Given the description of an element on the screen output the (x, y) to click on. 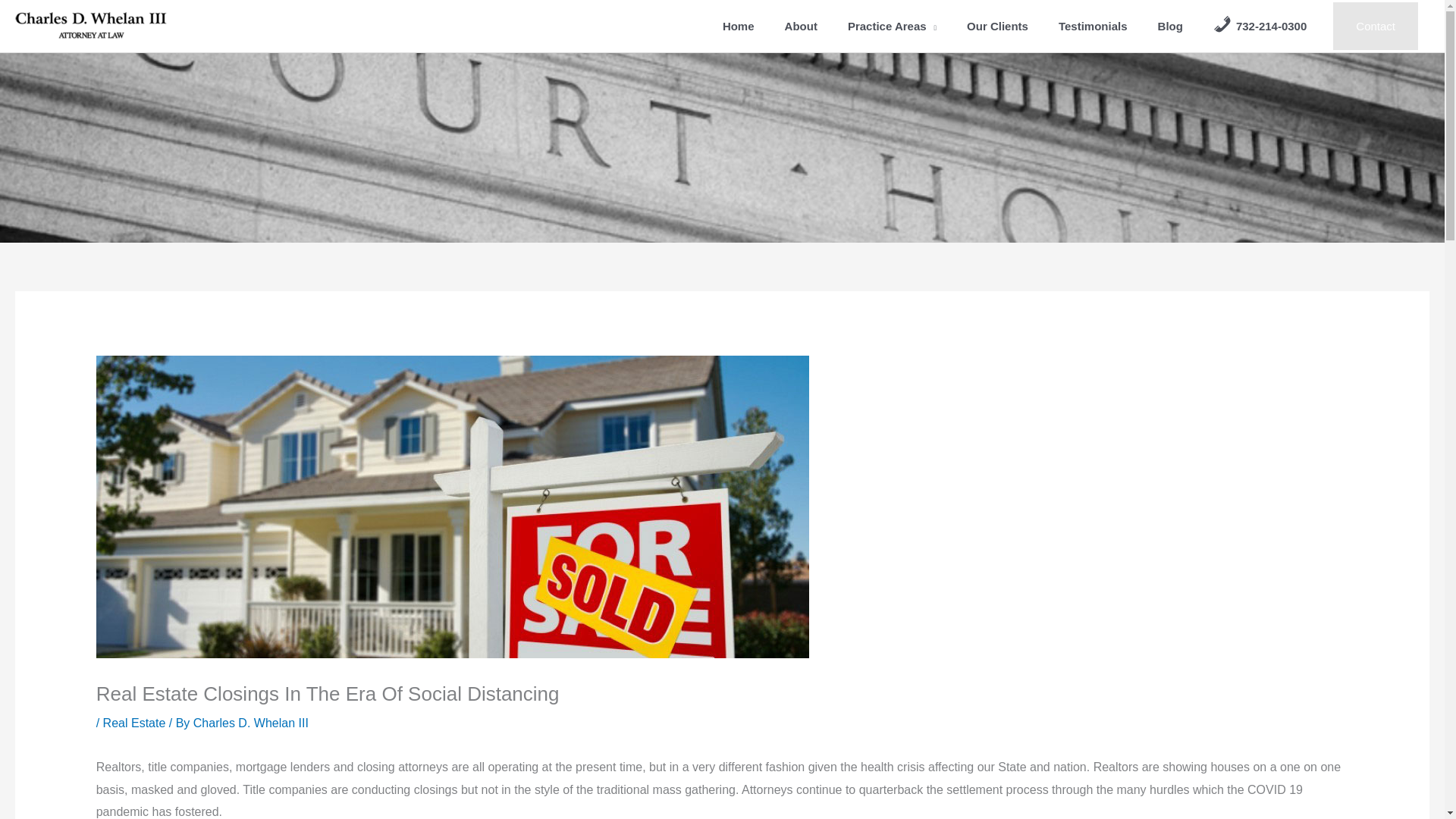
Home (738, 26)
Charles D. Whelan III (250, 722)
Practice Areas (892, 26)
Contact (1375, 26)
Our Clients (997, 26)
732-214-0300 (1260, 26)
Blog (1170, 26)
Real Estate (134, 722)
Testimonials (1092, 26)
View all posts by Charles D. Whelan III (250, 722)
About (801, 26)
